Given the description of an element on the screen output the (x, y) to click on. 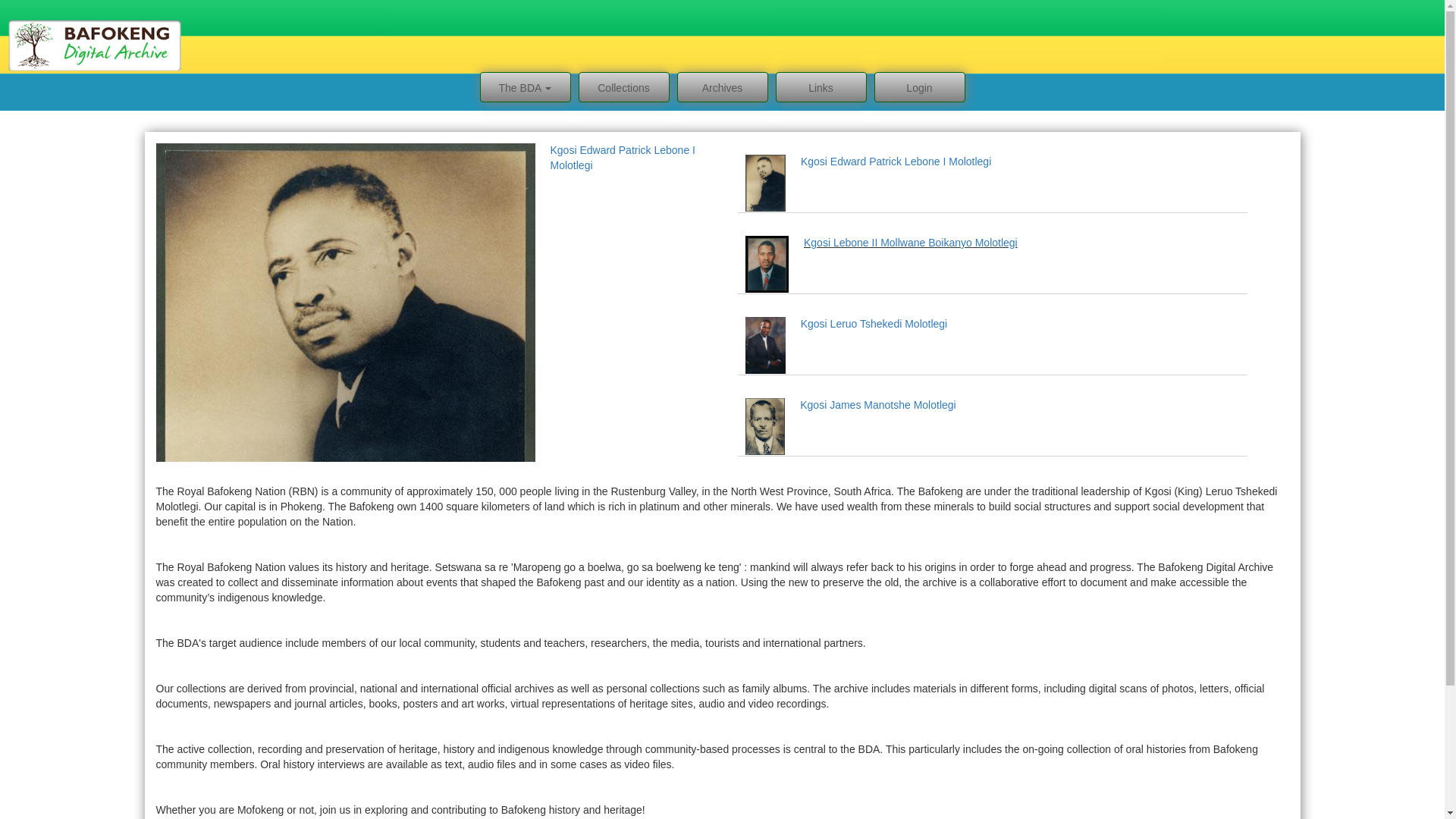
Kgosi James Manotshe Molotlegi (877, 404)
Kgosi Lebone II Mollwane Boikanyo Molotlegi (634, 157)
Collections (623, 87)
Kgosi Lebone II Mollwane Boikanyo Molotlegi (910, 242)
The BDA (525, 87)
Login (919, 87)
Kgosi Edward Patrick Lebone I Molotlegi (895, 161)
Archives (722, 87)
Links (821, 87)
